Given the description of an element on the screen output the (x, y) to click on. 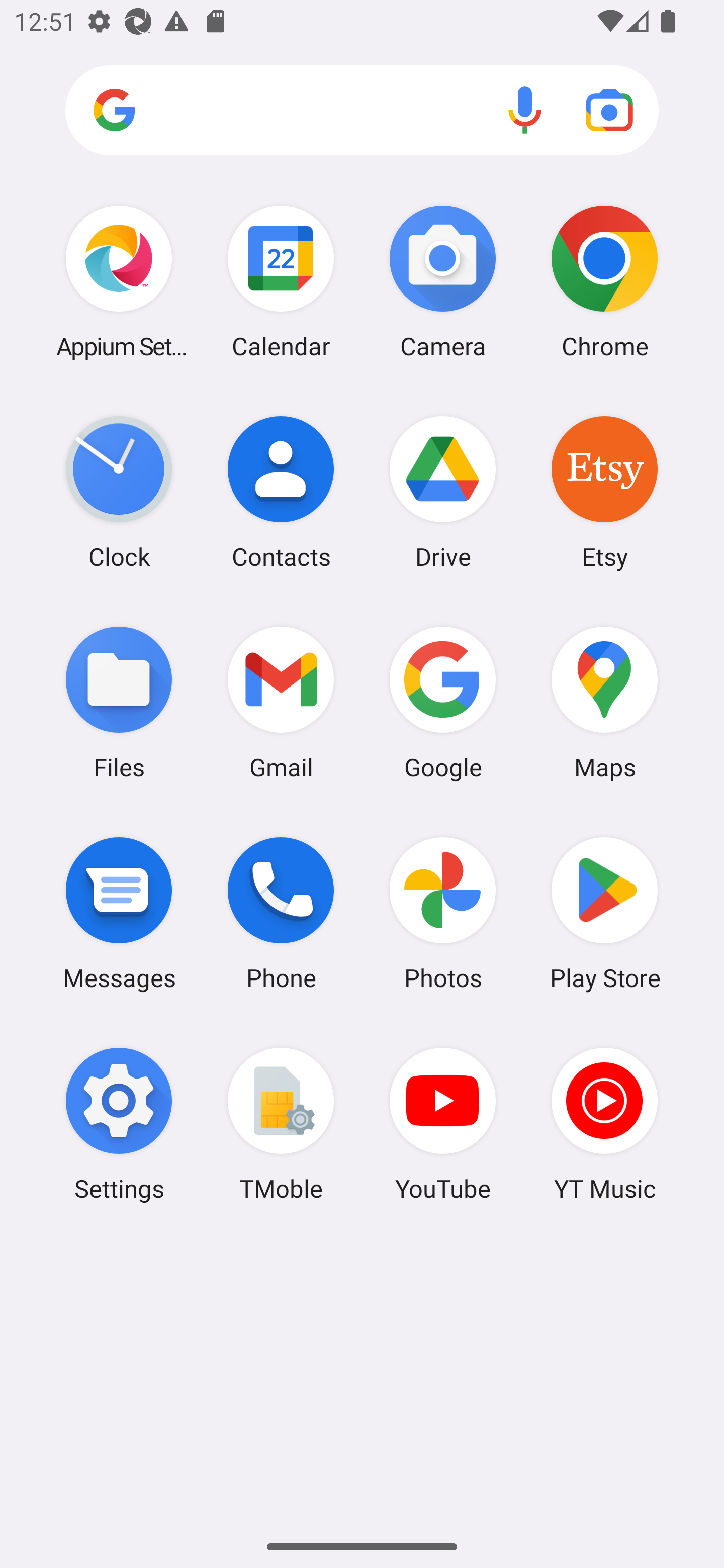
Search apps, web and more (361, 110)
Voice search (524, 109)
Google Lens (608, 109)
Appium Settings (118, 281)
Calendar (280, 281)
Camera (443, 281)
Chrome (604, 281)
Clock (118, 492)
Contacts (280, 492)
Drive (443, 492)
Etsy (604, 492)
Files (118, 702)
Gmail (280, 702)
Google (443, 702)
Maps (604, 702)
Messages (118, 913)
Phone (280, 913)
Photos (443, 913)
Play Store (604, 913)
Settings (118, 1124)
TMoble (280, 1124)
YouTube (443, 1124)
YT Music (604, 1124)
